Given the description of an element on the screen output the (x, y) to click on. 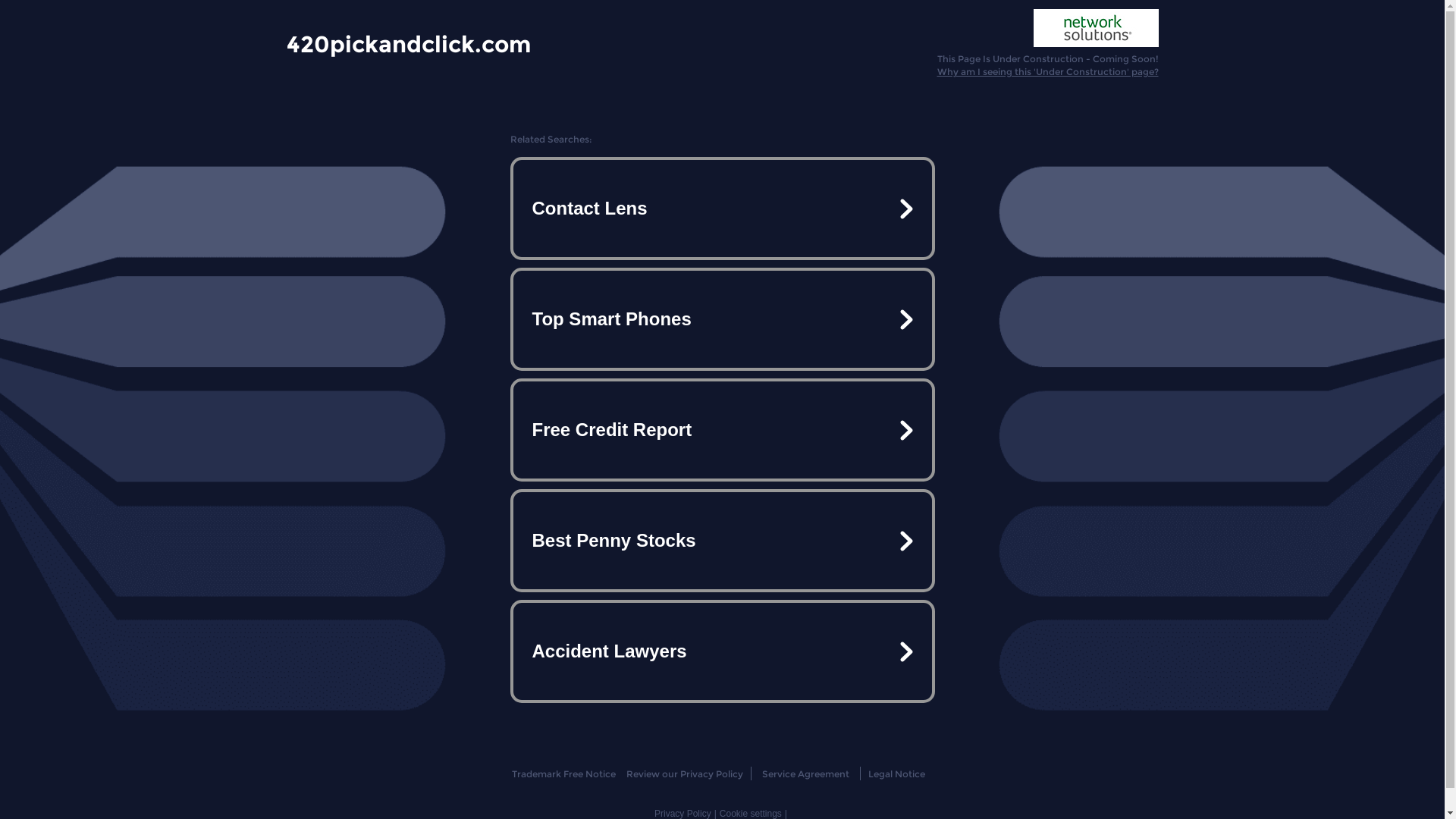
Accident Lawyers Element type: text (721, 650)
Why am I seeing this 'Under Construction' page? Element type: text (1047, 71)
Free Credit Report Element type: text (721, 429)
Top Smart Phones Element type: text (721, 318)
Legal Notice Element type: text (896, 773)
420pickandclick.com Element type: text (408, 43)
Service Agreement Element type: text (805, 773)
Contact Lens Element type: text (721, 208)
Review our Privacy Policy Element type: text (684, 773)
Best Penny Stocks Element type: text (721, 540)
Trademark Free Notice Element type: text (563, 773)
